Given the description of an element on the screen output the (x, y) to click on. 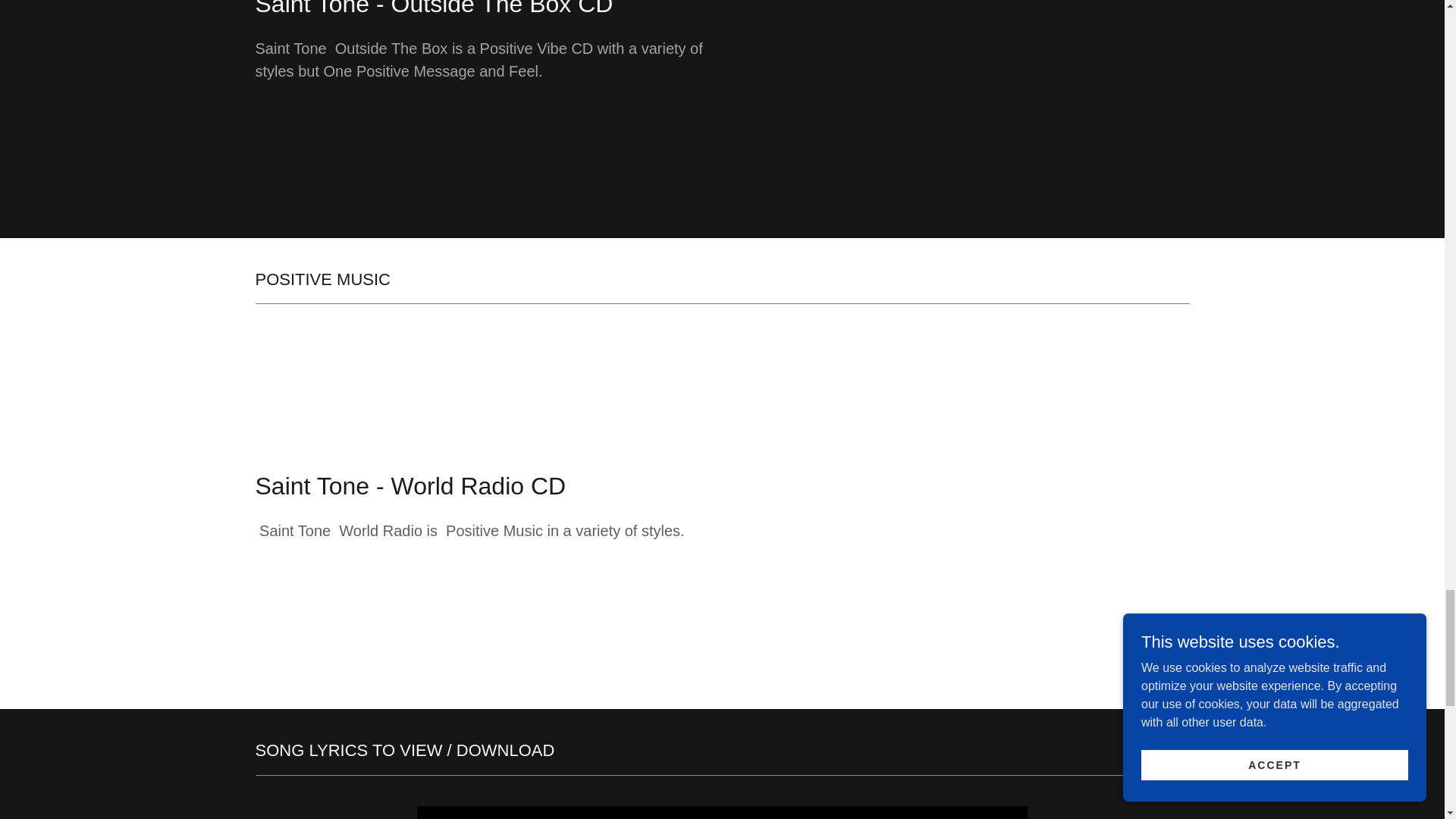
Clickable audio widget (964, 102)
